Given the description of an element on the screen output the (x, y) to click on. 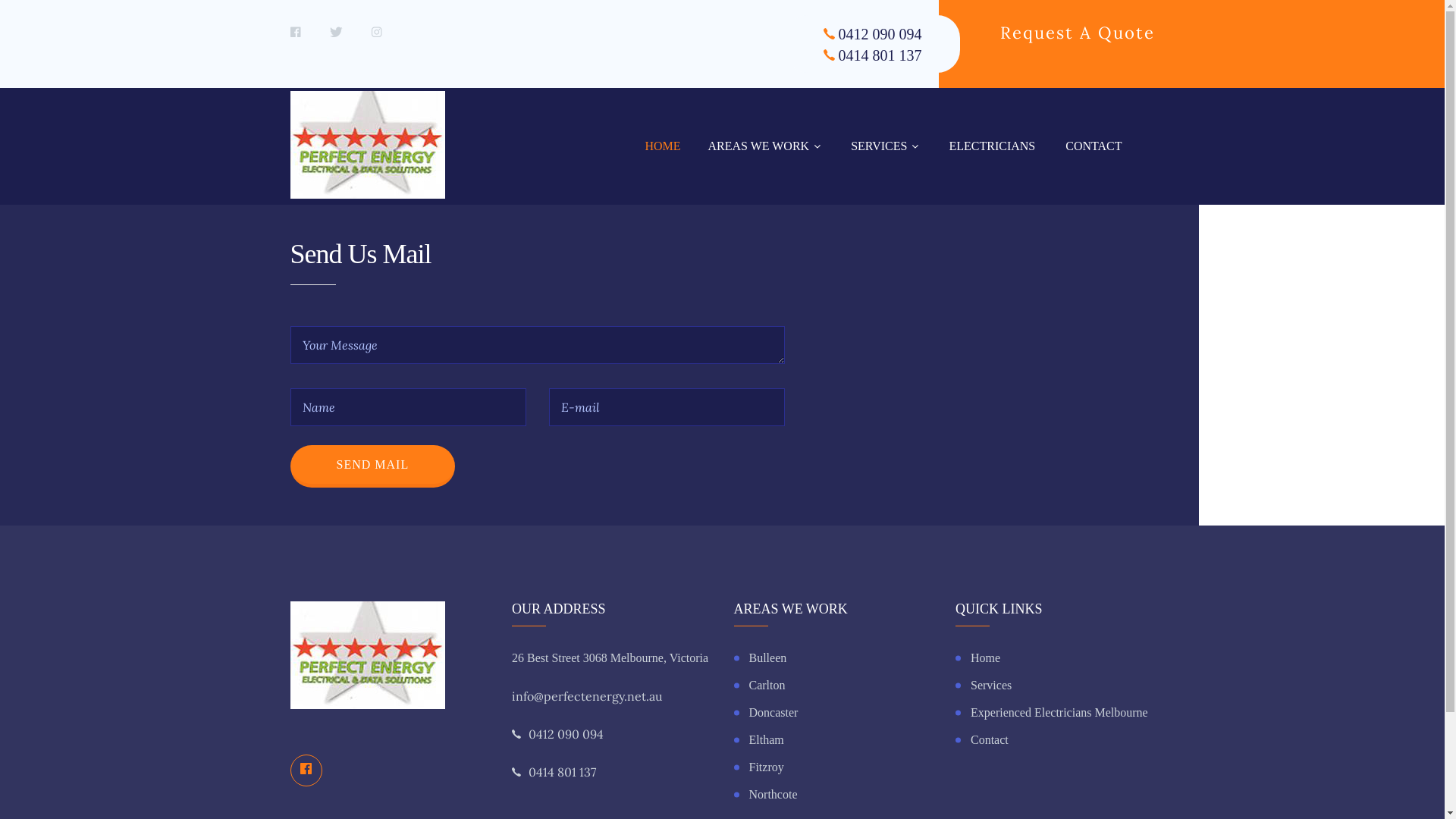
Northcote Element type: text (833, 794)
Eltham Element type: text (833, 739)
Contact Element type: text (1054, 739)
Home Element type: text (1054, 658)
0412 090 094 Element type: text (565, 733)
Request A Quote Element type: text (1076, 32)
AREAS WE WORK Element type: text (764, 146)
info@perfectenergy.net.au Element type: text (586, 695)
Send Mail Element type: text (372, 466)
Bulleen Element type: text (833, 658)
Carlton Element type: text (833, 685)
0414 801 137 Element type: text (880, 55)
Fitzroy Element type: text (833, 767)
0412 090 094 Element type: text (880, 33)
HOME Element type: text (661, 146)
SERVICES Element type: text (884, 146)
Experienced Electricians Melbourne Element type: text (1054, 712)
Services Element type: text (1054, 685)
Doncaster Element type: text (833, 712)
ELECTRICIANS Element type: text (991, 146)
CONTACT Element type: text (1093, 146)
Greg Jones Plumbing Service Element type: hover (366, 655)
0414 801 137 Element type: text (562, 771)
